Given the description of an element on the screen output the (x, y) to click on. 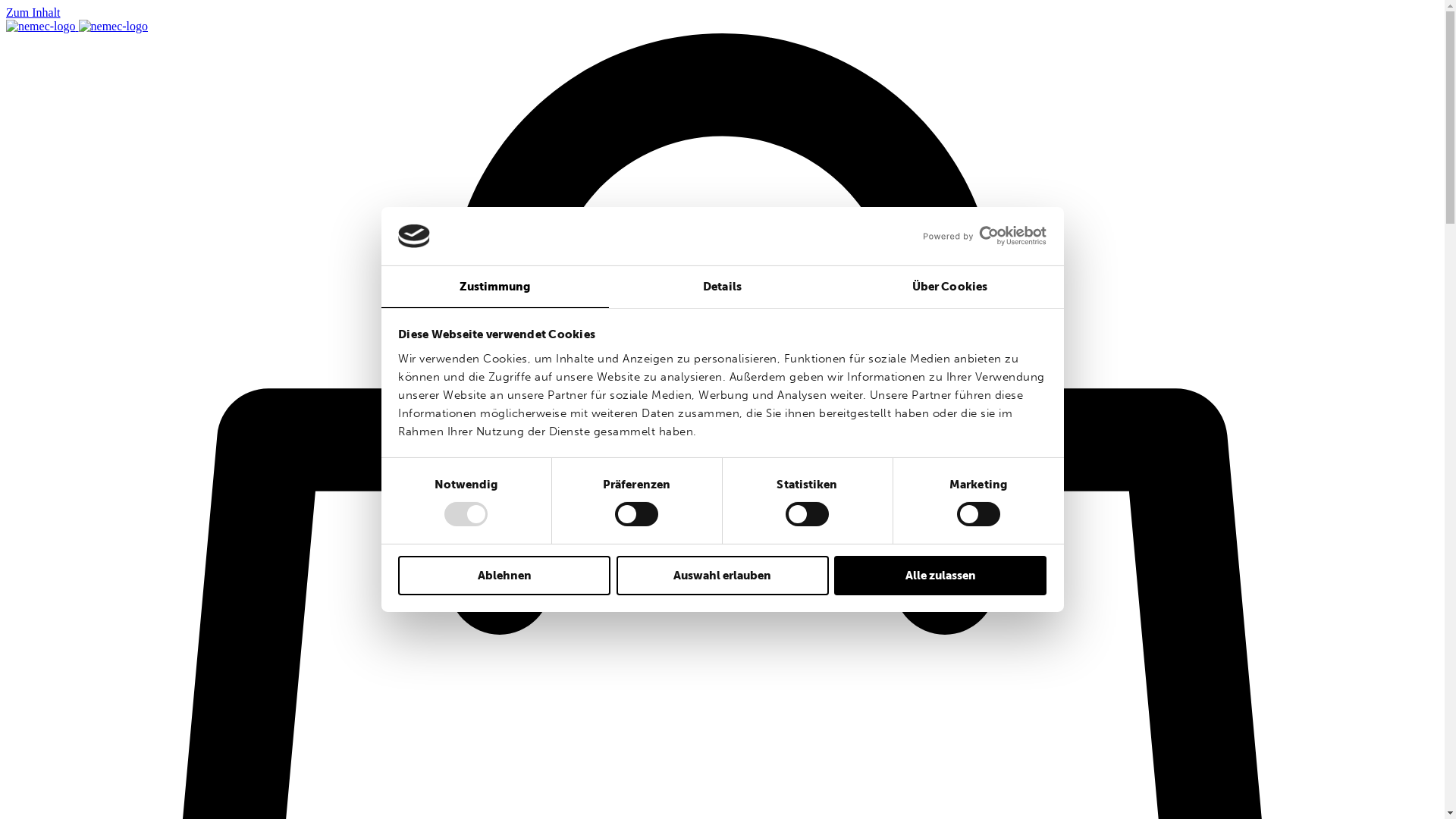
Auswahl erlauben Element type: text (721, 575)
Zustimmung Element type: text (494, 286)
Zum Inhalt Element type: text (33, 12)
Ablehnen Element type: text (504, 575)
Details Element type: text (721, 286)
Alle zulassen Element type: text (940, 575)
